Given the description of an element on the screen output the (x, y) to click on. 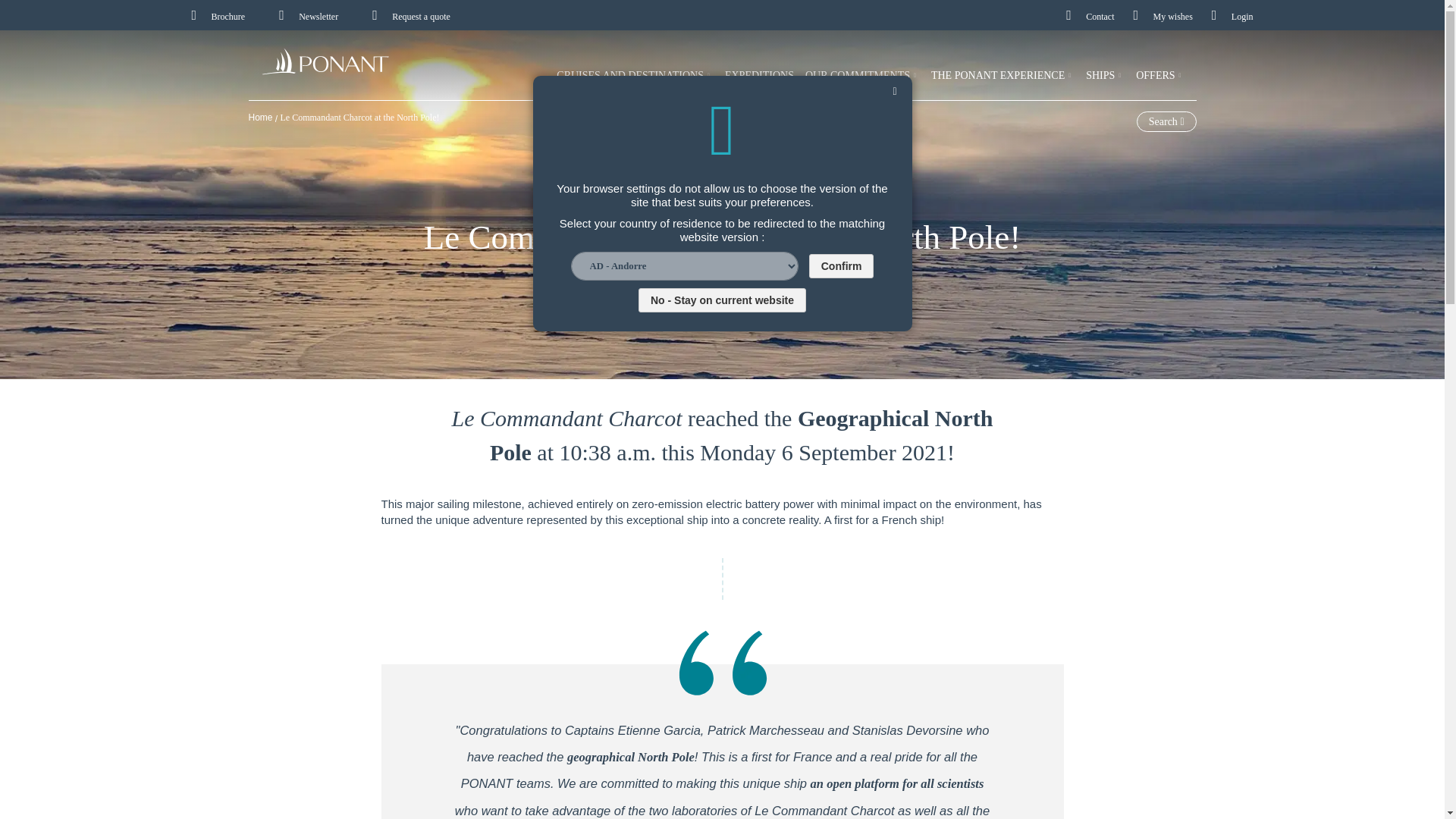
Request a quote (410, 16)
Go to Home Page (261, 117)
Confirm (842, 265)
Brochure (217, 16)
Login (1232, 16)
No - Stay on current website (722, 300)
My wishes (1162, 16)
Newsletter (308, 16)
 Contact (1089, 16)
CRUISES AND DESTINATIONS (634, 74)
Your luxury cruise with PONANT (327, 63)
